Given the description of an element on the screen output the (x, y) to click on. 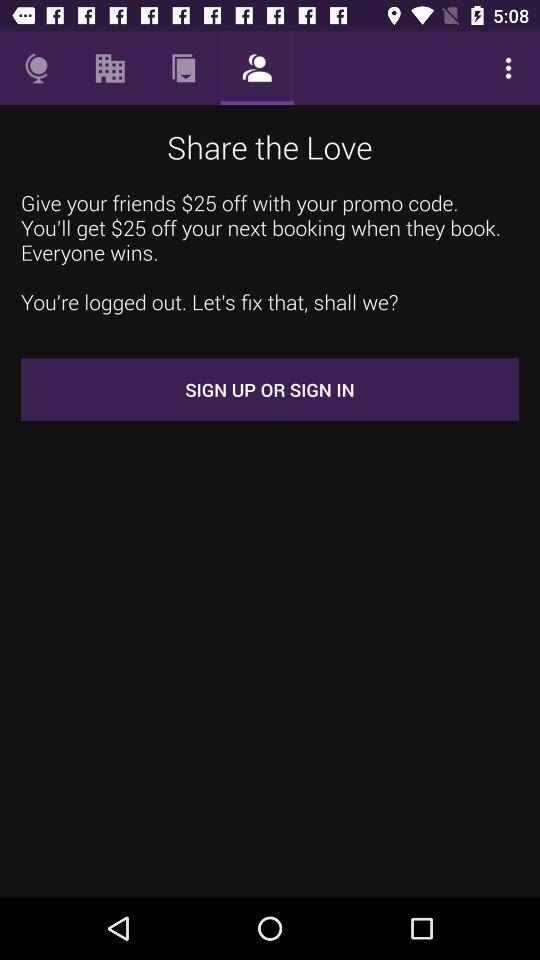
choose item above share the love (256, 68)
